Given the description of an element on the screen output the (x, y) to click on. 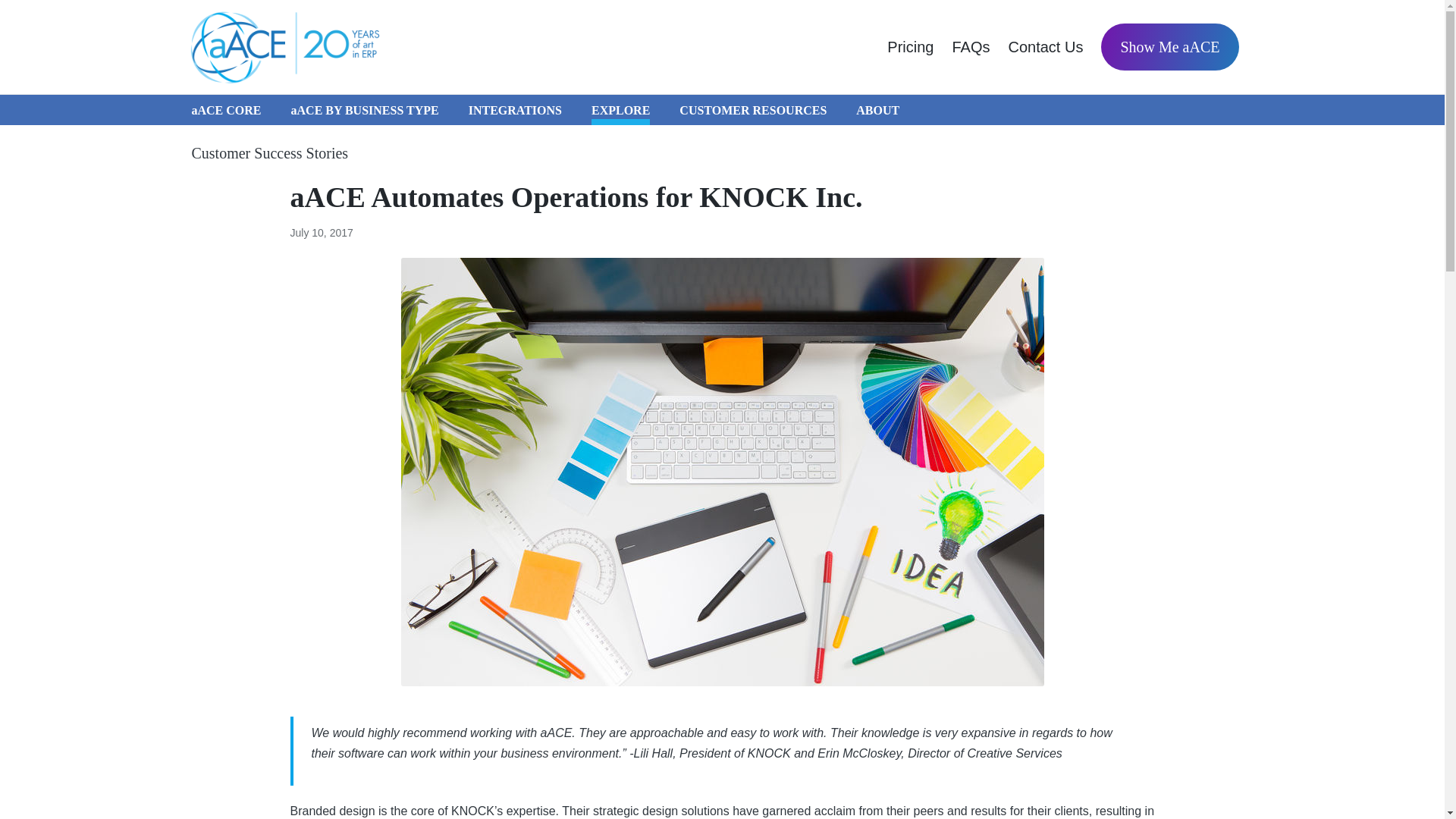
Contact Us (1045, 47)
CUSTOMER RESOURCES (753, 110)
FAQs (971, 47)
Pricing (909, 47)
aACE BY BUSINESS TYPE (365, 110)
INTEGRATIONS (515, 110)
Show Me aACE (1169, 47)
aACE CORE (225, 110)
EXPLORE (620, 110)
